Given the description of an element on the screen output the (x, y) to click on. 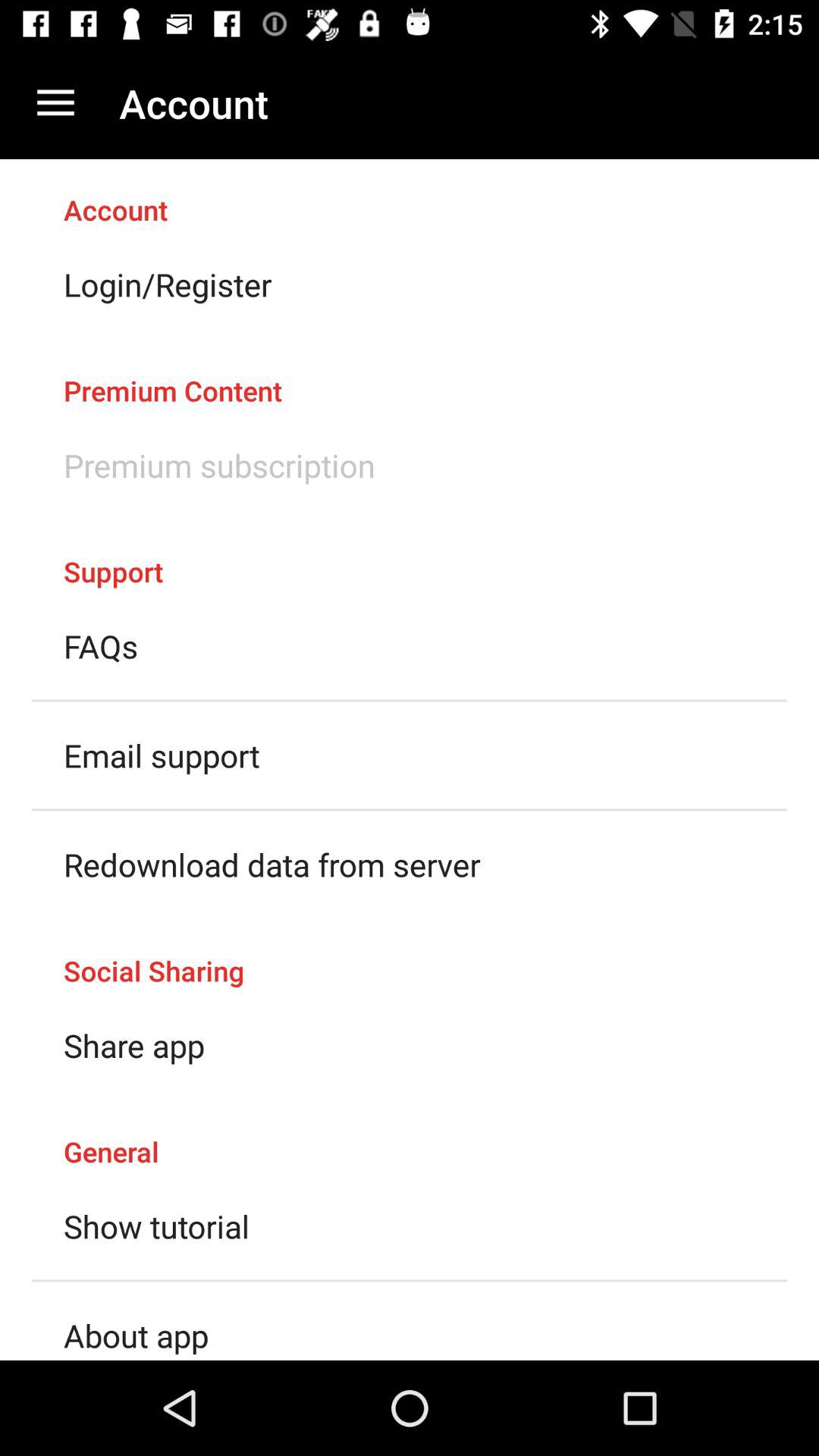
flip to show tutorial icon (156, 1225)
